Given the description of an element on the screen output the (x, y) to click on. 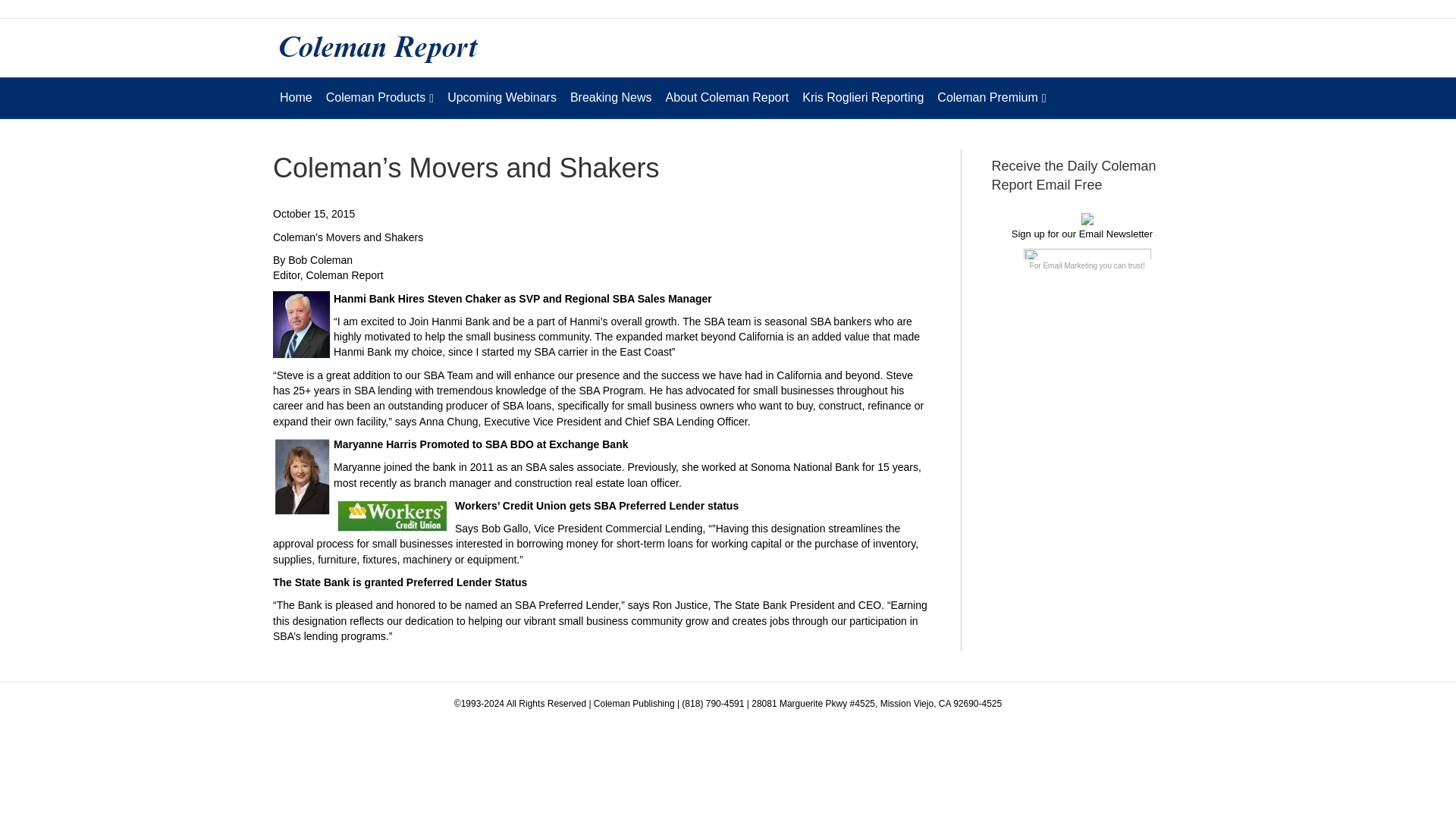
Breaking News (611, 97)
Sign up for our Email Newsletter (1082, 233)
Email Marketing (1069, 265)
Home (295, 97)
Coleman Products (379, 97)
Coleman Premium (991, 97)
Kris Roglieri Reporting (862, 97)
About Coleman Report (727, 97)
Upcoming Webinars (502, 97)
